Given the description of an element on the screen output the (x, y) to click on. 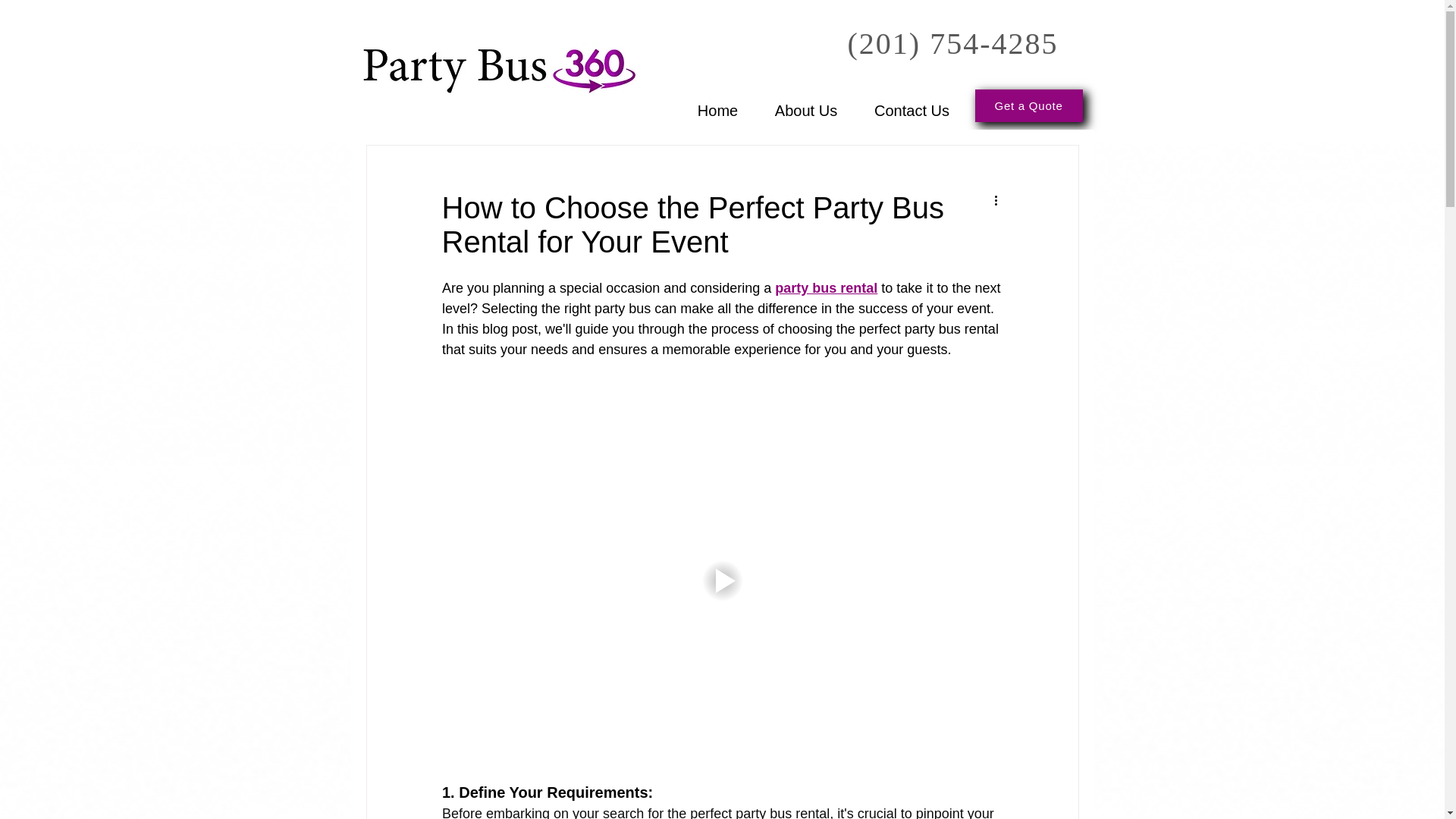
About Us (806, 103)
party bus rental (825, 287)
Contact Us (912, 103)
Home (718, 103)
Get a Quote (1029, 105)
